Given the description of an element on the screen output the (x, y) to click on. 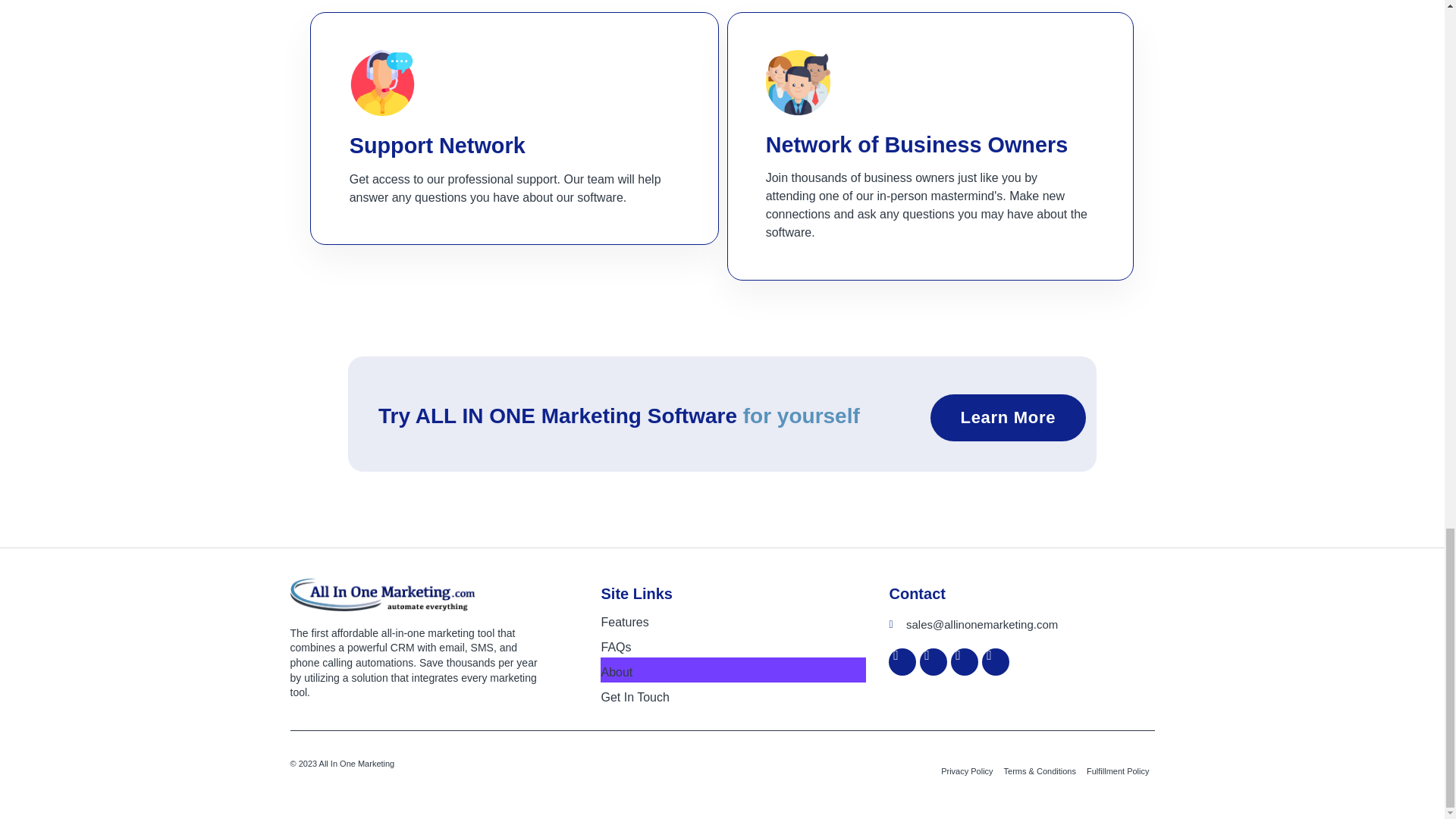
Features (732, 619)
About (732, 669)
FAQs (732, 644)
Get In Touch (732, 694)
Learn More (1008, 417)
